Given the description of an element on the screen output the (x, y) to click on. 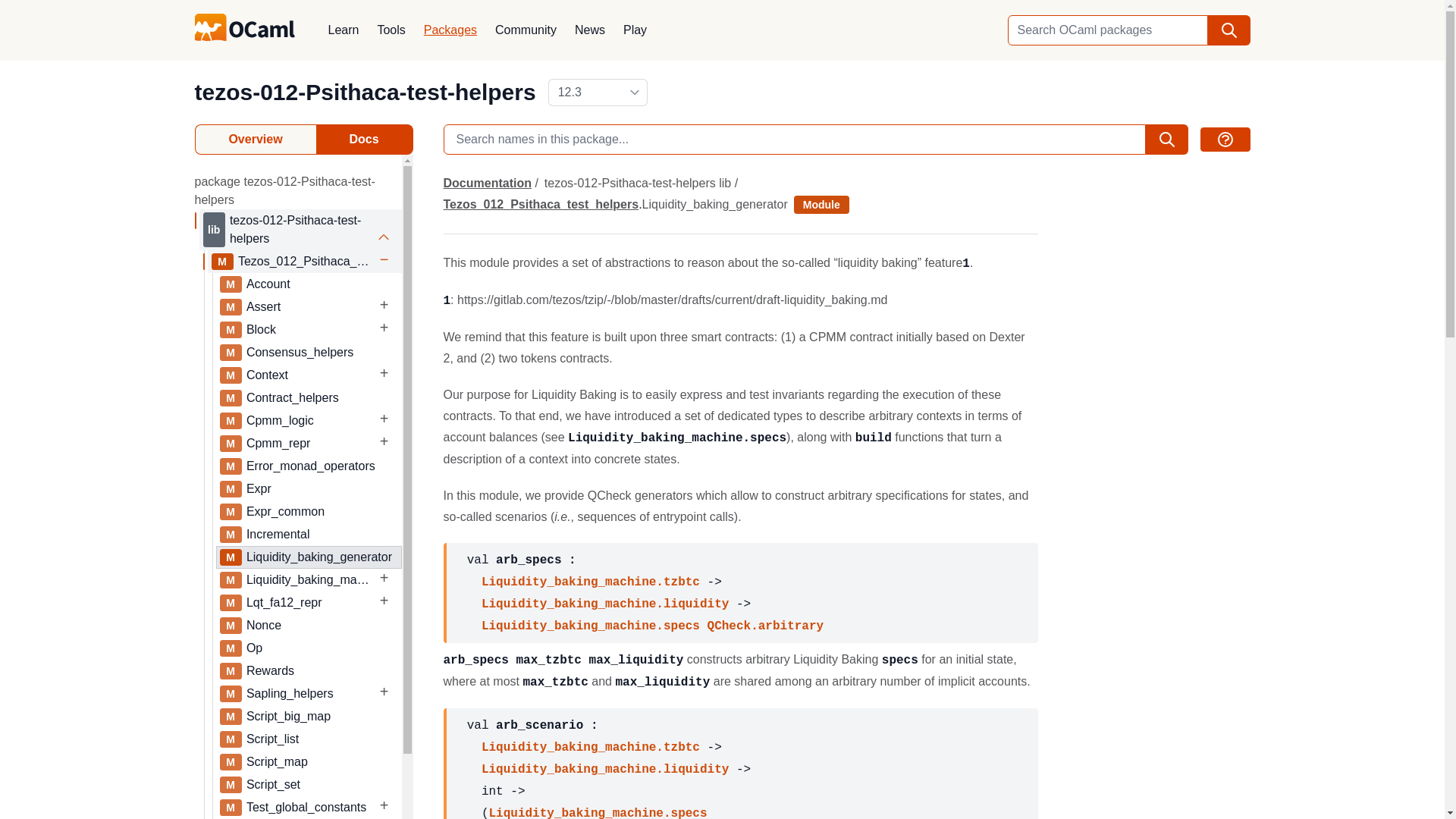
package tezos-012-Psithaca-test-helpers (283, 190)
Packages (450, 30)
show search instructions (1224, 139)
Block (310, 329)
Library tezos-012-Psithaca-test-helpers (302, 229)
Module Account (310, 283)
Overview (254, 139)
Docs (364, 139)
Tools (390, 30)
Learn (343, 30)
